Given the description of an element on the screen output the (x, y) to click on. 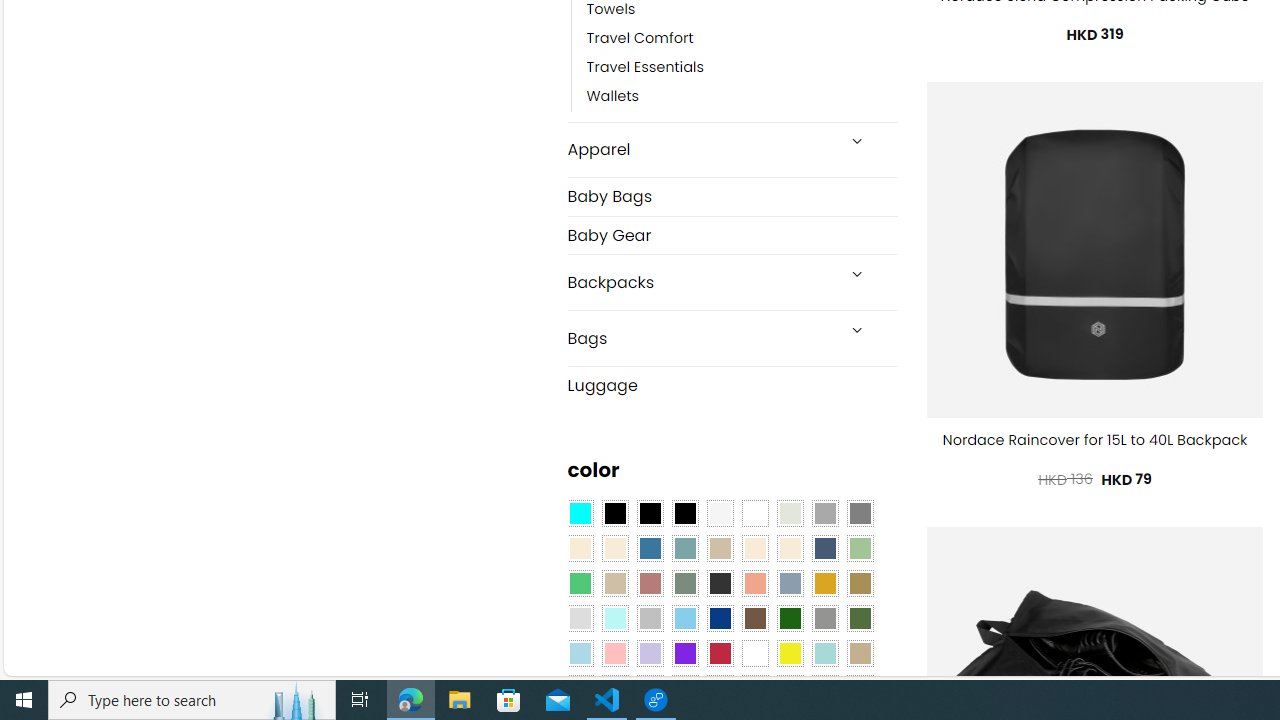
Clear (755, 514)
Dark Green (789, 619)
Black (650, 514)
Baby Gear (732, 235)
Mint (614, 619)
Travel Comfort (639, 38)
Rose (650, 583)
Navy Blue (719, 619)
Blue Sage (684, 548)
Wallets (613, 97)
Light Blue (579, 653)
Sky Blue (684, 619)
Light Green (859, 548)
Wallets (742, 97)
Travel Comfort (742, 38)
